Given the description of an element on the screen output the (x, y) to click on. 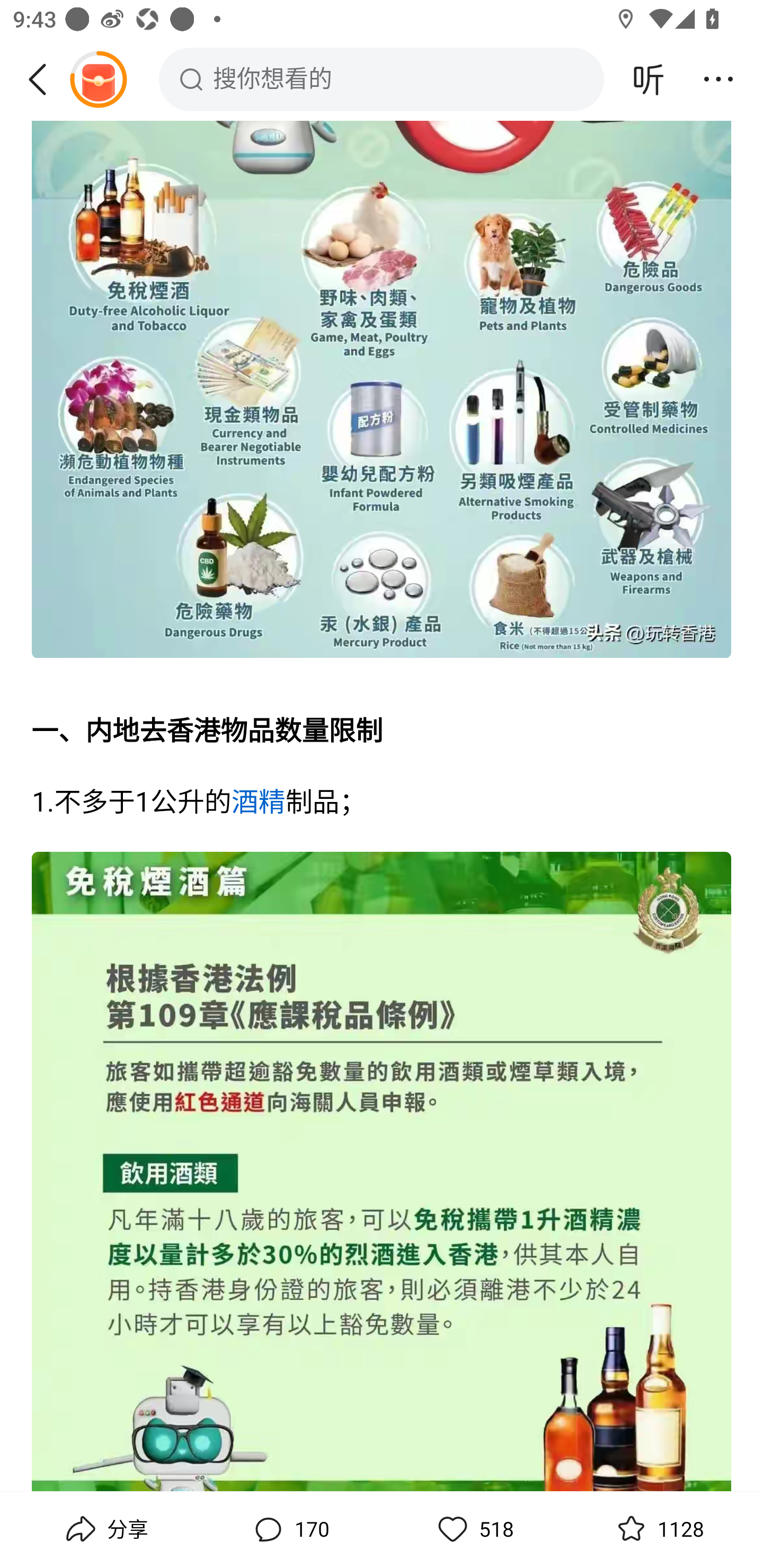
返回 (44, 78)
听头条 (648, 78)
更多操作 (718, 78)
搜你想看的 搜索框，搜你想看的 (381, 79)
阅读赚金币 (98, 79)
图片，点击识别内容 (381, 391)
酒精 (258, 804)
图片，点击识别内容 (381, 1171)
分享 (104, 1529)
评论,170 170 (288, 1529)
收藏,1128 1128 (658, 1529)
